Given the description of an element on the screen output the (x, y) to click on. 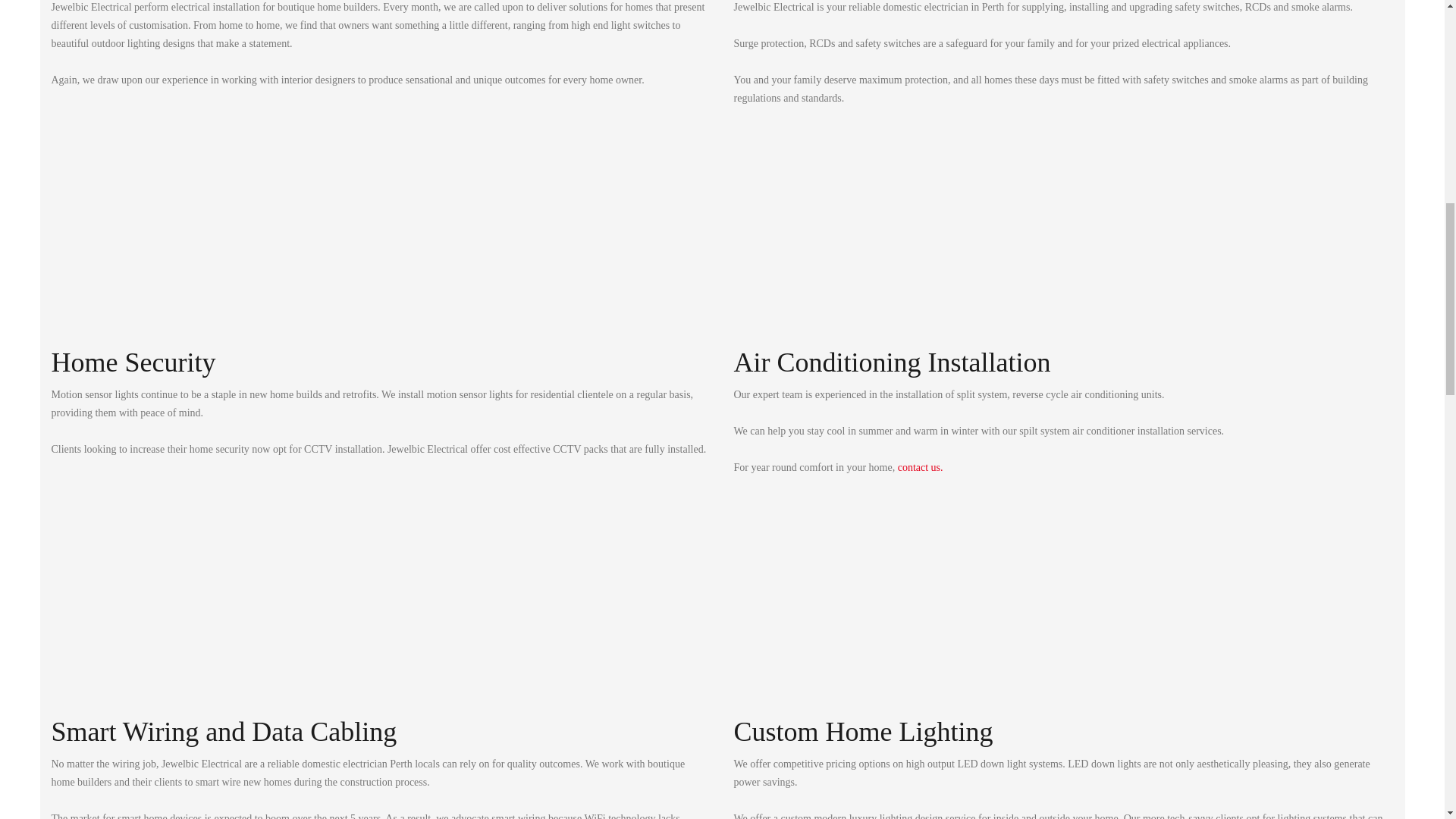
air-conditioning (889, 243)
smart-wiring (206, 612)
contact us. (920, 467)
security-electrical (206, 243)
